Given the description of an element on the screen output the (x, y) to click on. 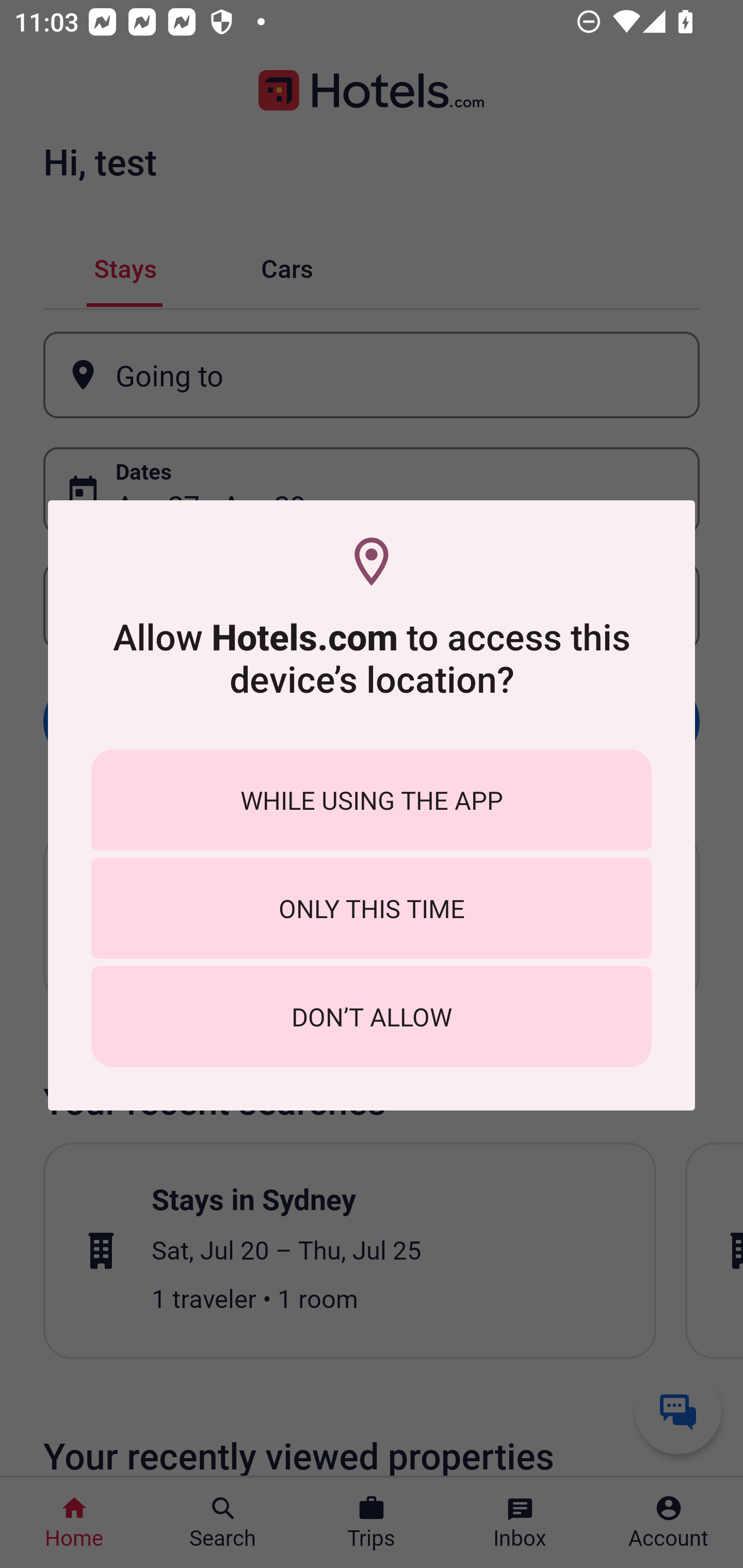
WHILE USING THE APP (371, 799)
ONLY THIS TIME (371, 908)
DON’T ALLOW (371, 1016)
